Given the description of an element on the screen output the (x, y) to click on. 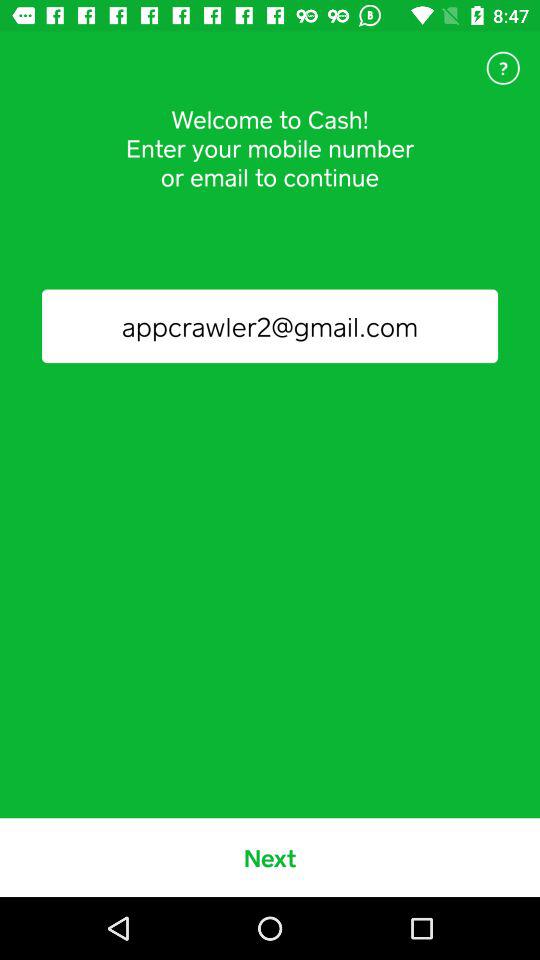
choose the icon at the center (269, 326)
